Given the description of an element on the screen output the (x, y) to click on. 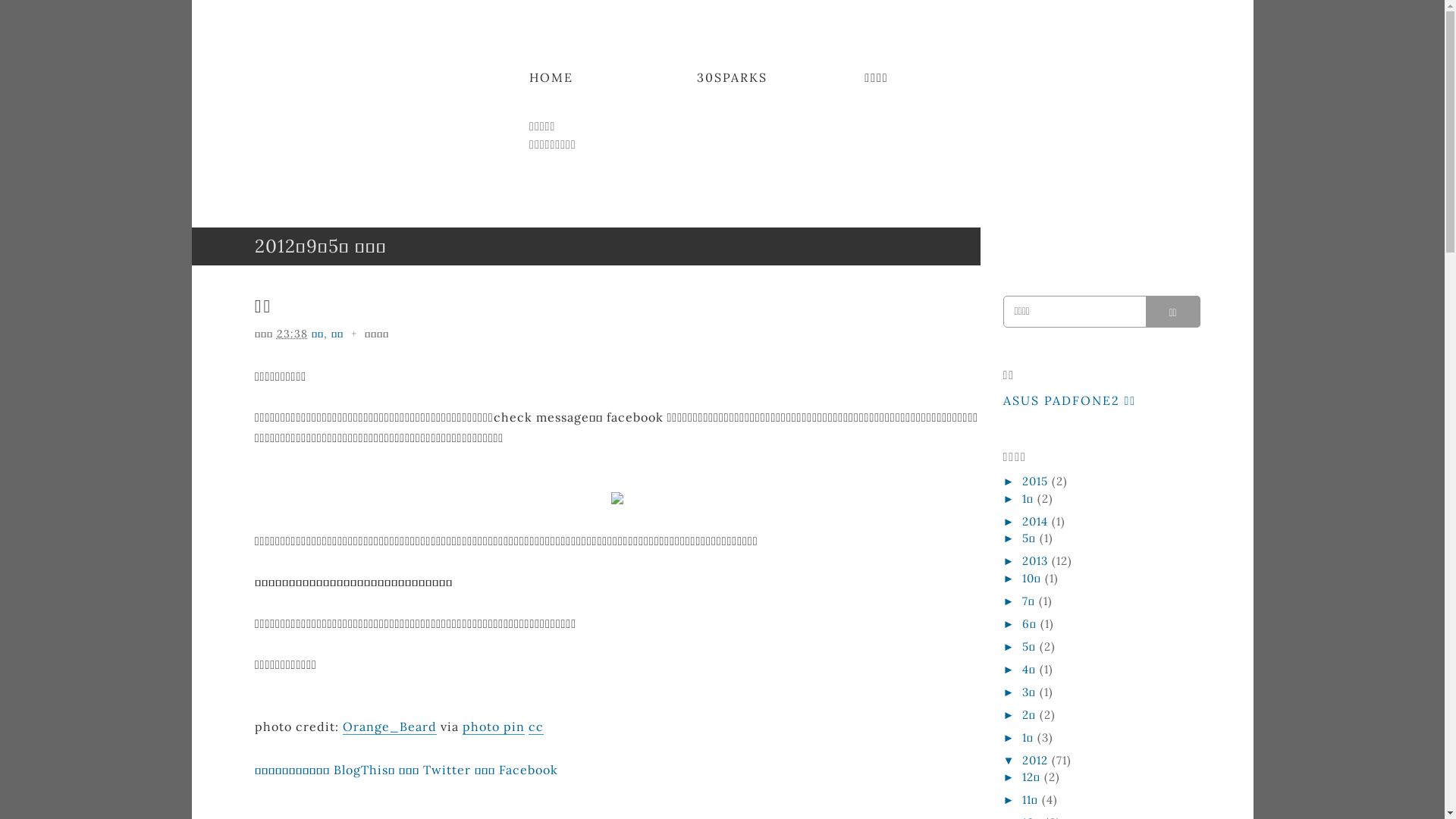
photo pin Element type: text (493, 726)
Orange_Beard Element type: text (389, 726)
2012 Element type: text (1036, 759)
30SPARKS Element type: text (731, 76)
cc Element type: text (535, 726)
HOME Element type: text (551, 76)
2013 Element type: text (1036, 560)
2015 Element type: text (1036, 480)
Goofyz Leung Element type: text (298, 125)
2014 Element type: text (1036, 521)
